Given the description of an element on the screen output the (x, y) to click on. 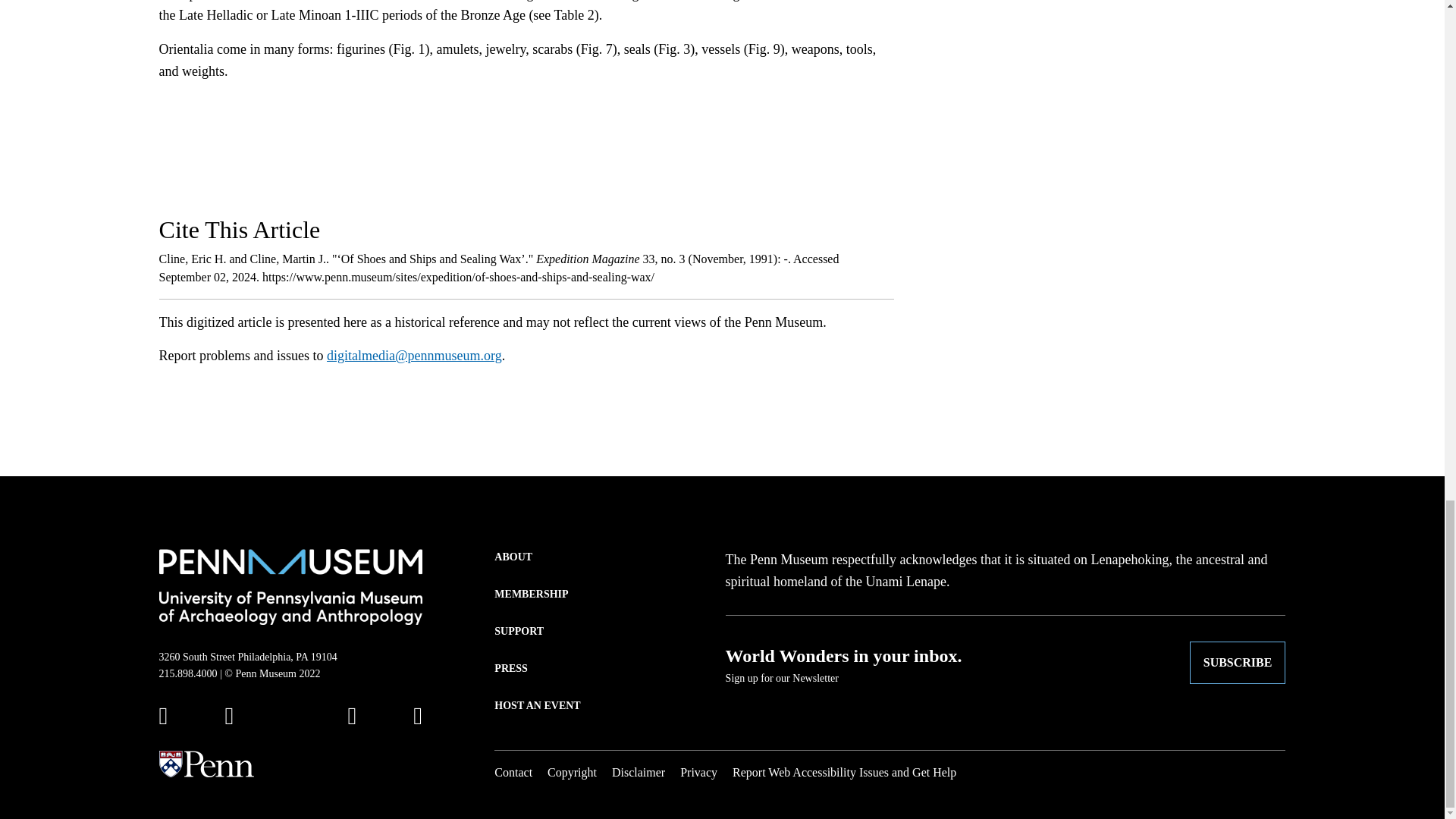
Disclaimer (638, 772)
SUBSCRIBE (1237, 662)
Report Web Accessibility Issues and Get Help (844, 772)
Contact (513, 772)
Copyright (571, 772)
ABOUT (513, 556)
HOST AN EVENT (537, 705)
Privacy (698, 772)
PRESS (511, 668)
215.898.4000 (187, 673)
